Given the description of an element on the screen output the (x, y) to click on. 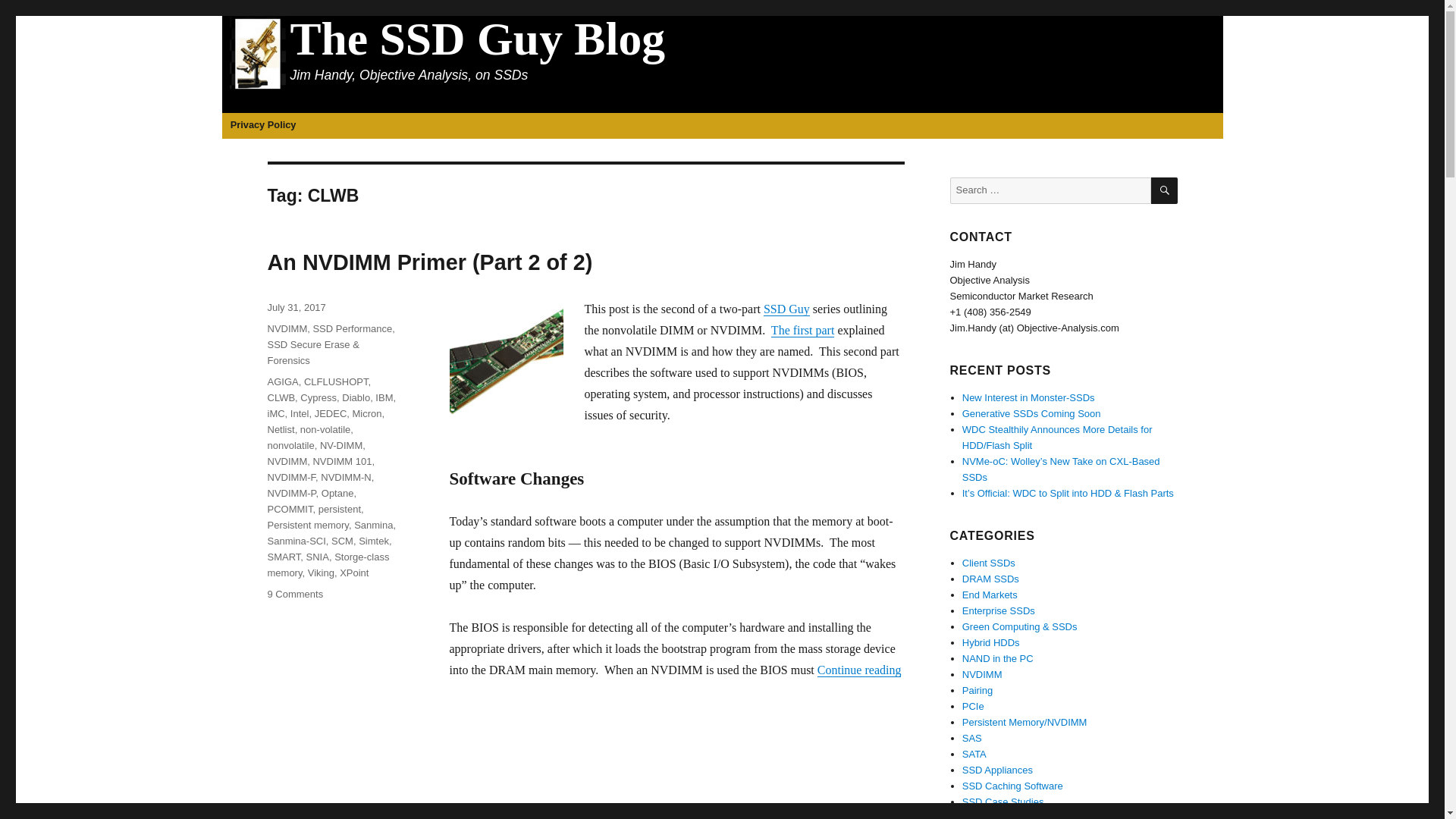
IBM (384, 397)
July 31, 2017 (295, 307)
SSD Guy (785, 308)
Privacy Policy (262, 125)
NVDIMM-F (290, 477)
Micron (366, 413)
Call with Google Voice (989, 311)
The SSD Guy Blog (477, 39)
Diablo (355, 397)
AGIGA (282, 381)
JEDEC (330, 413)
NVDIMM-P (290, 492)
NVDIMM 101 (342, 460)
iMC (274, 413)
nonvolatile (290, 445)
